Given the description of an element on the screen output the (x, y) to click on. 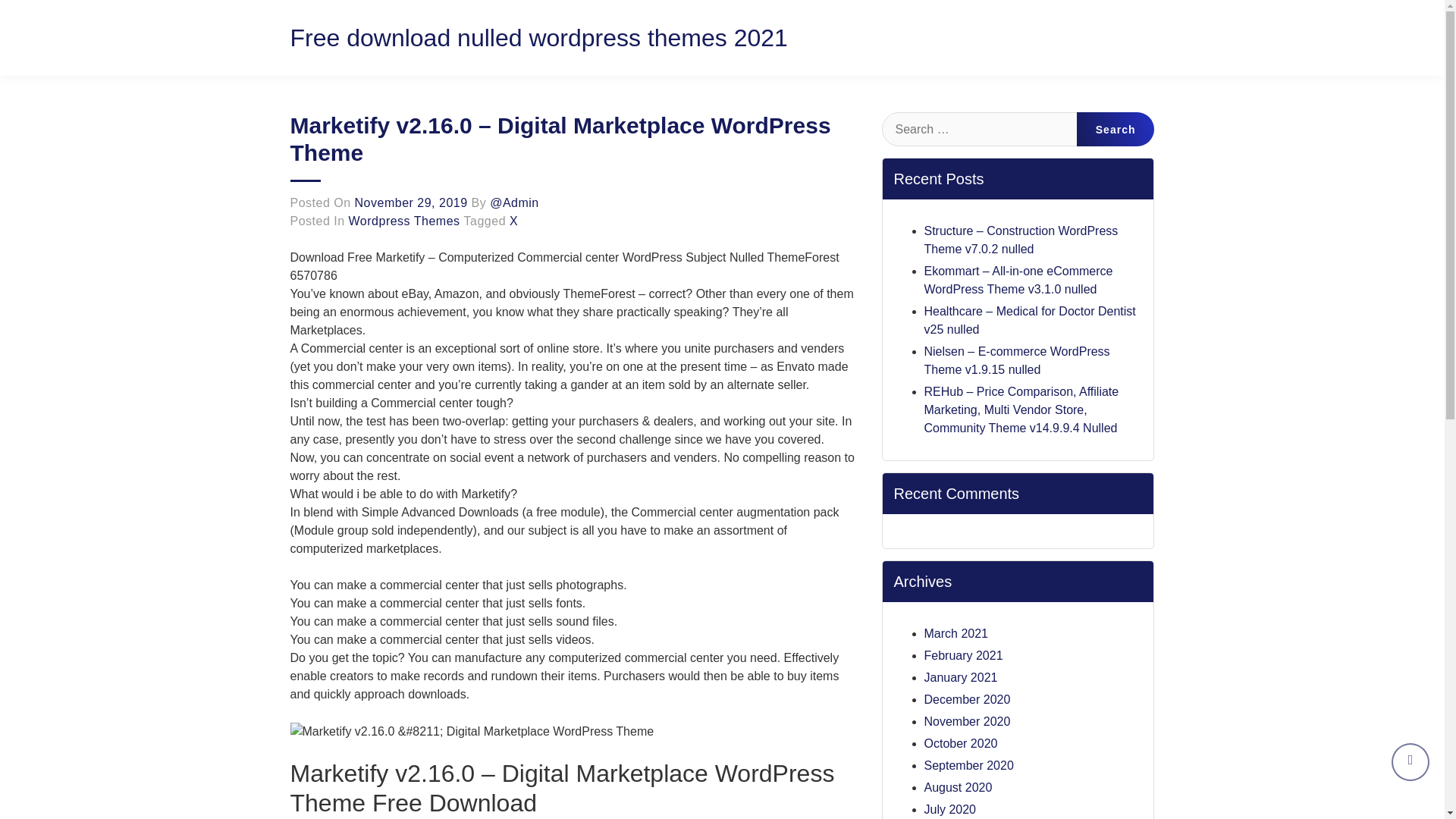
February 2021 (963, 655)
December 2020 (966, 698)
January 2021 (960, 676)
November 2020 (966, 721)
Wordpress Themes (404, 220)
October 2020 (960, 743)
Free download nulled wordpress themes 2021 (538, 37)
Search (1115, 129)
Search (1115, 129)
August 2020 (957, 787)
November 29, 2019 (411, 202)
March 2021 (955, 633)
July 2020 (949, 809)
Search (1115, 129)
September 2020 (968, 765)
